Given the description of an element on the screen output the (x, y) to click on. 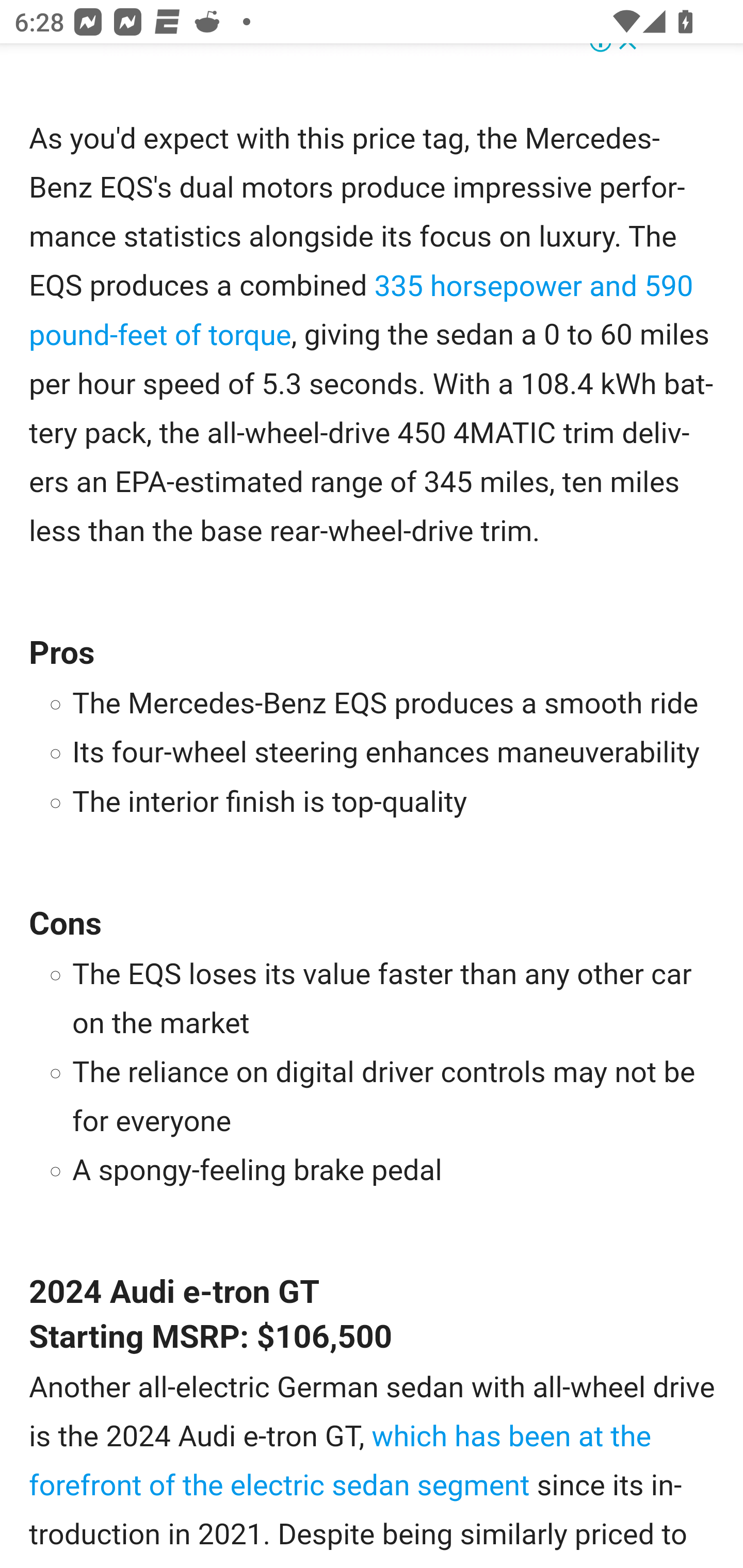
335 horsepower and 590 pound-feet of torque (361, 311)
